Given the description of an element on the screen output the (x, y) to click on. 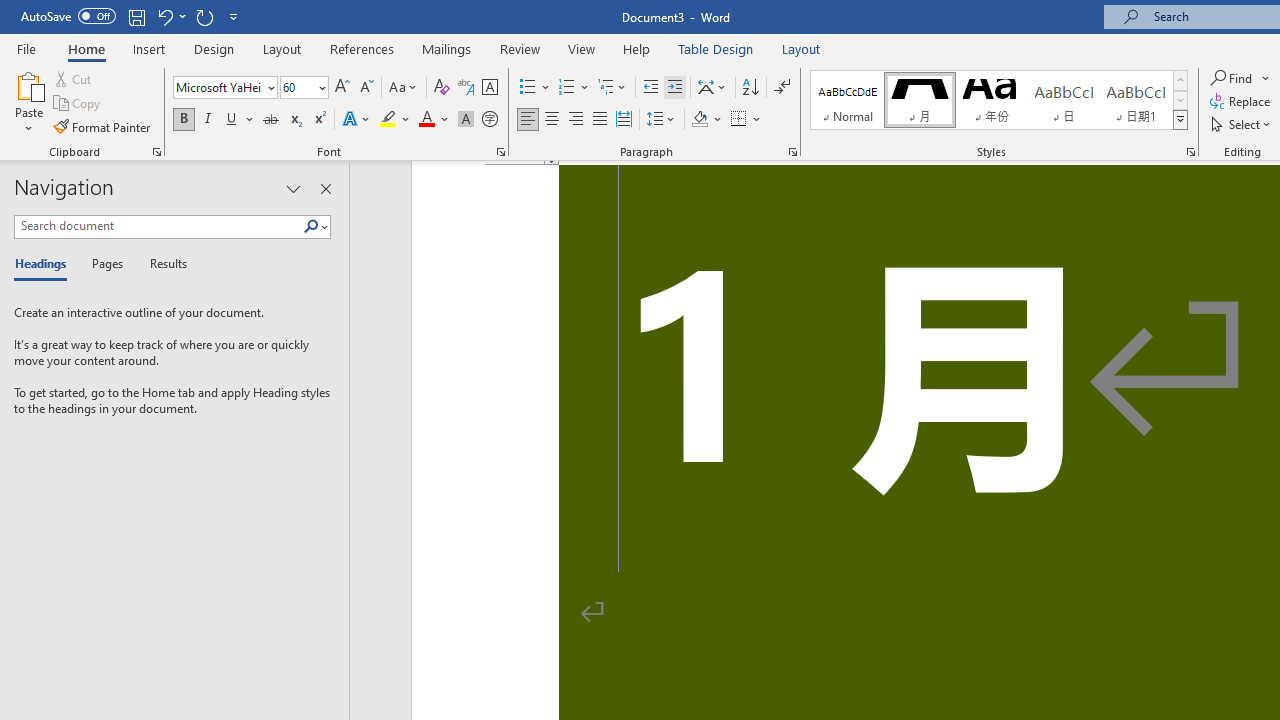
AutomationID: QuickStylesGallery (999, 99)
Repeat Increase Indent (204, 15)
